Given the description of an element on the screen output the (x, y) to click on. 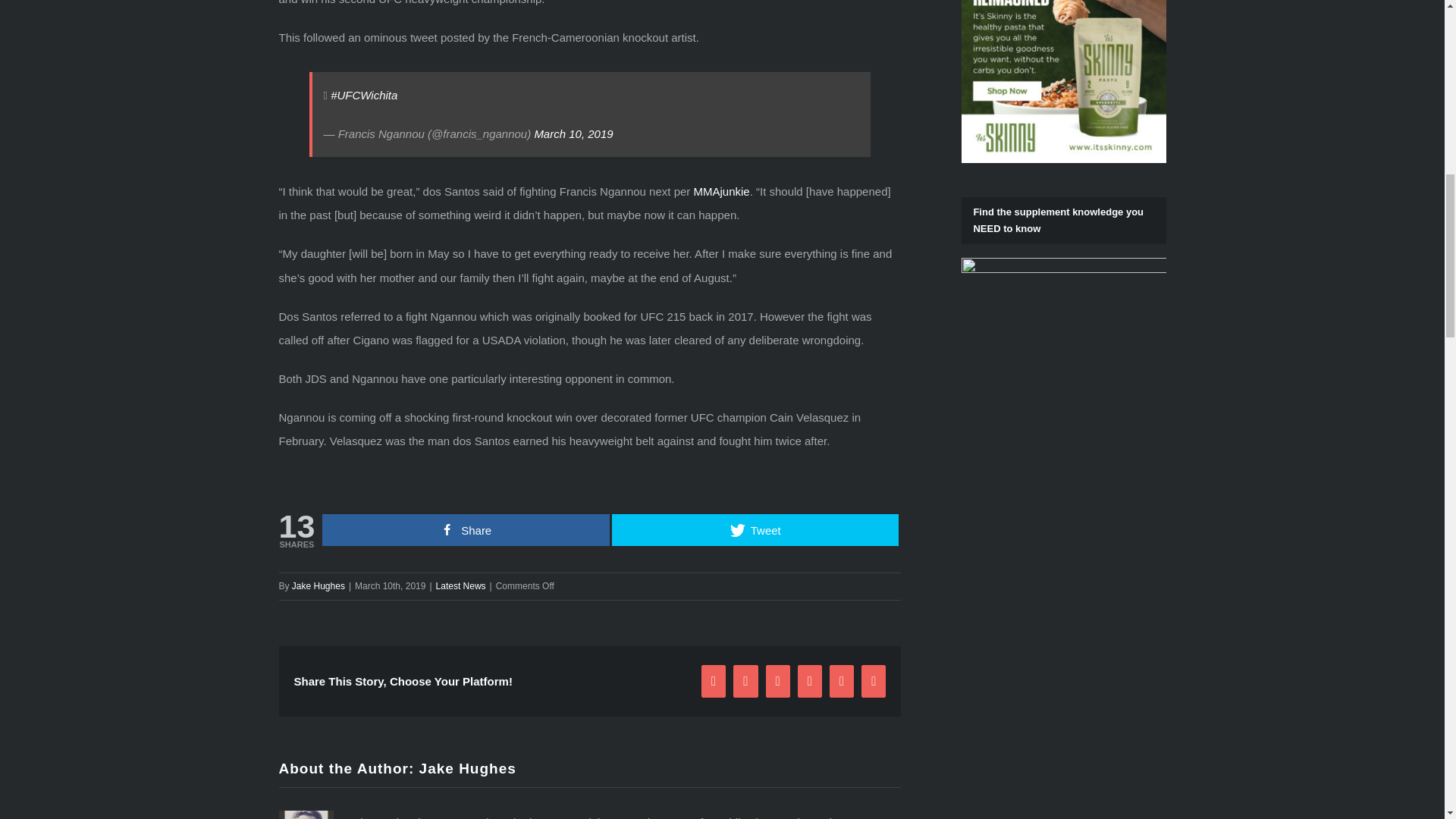
March 10, 2019 (573, 133)
MMAjunkie (721, 191)
Jake Hughes (467, 768)
Jake Hughes (318, 585)
Tweet (755, 530)
Share (465, 530)
Posts by Jake Hughes (467, 768)
Latest News (460, 585)
Posts by Jake Hughes (318, 585)
